Given the description of an element on the screen output the (x, y) to click on. 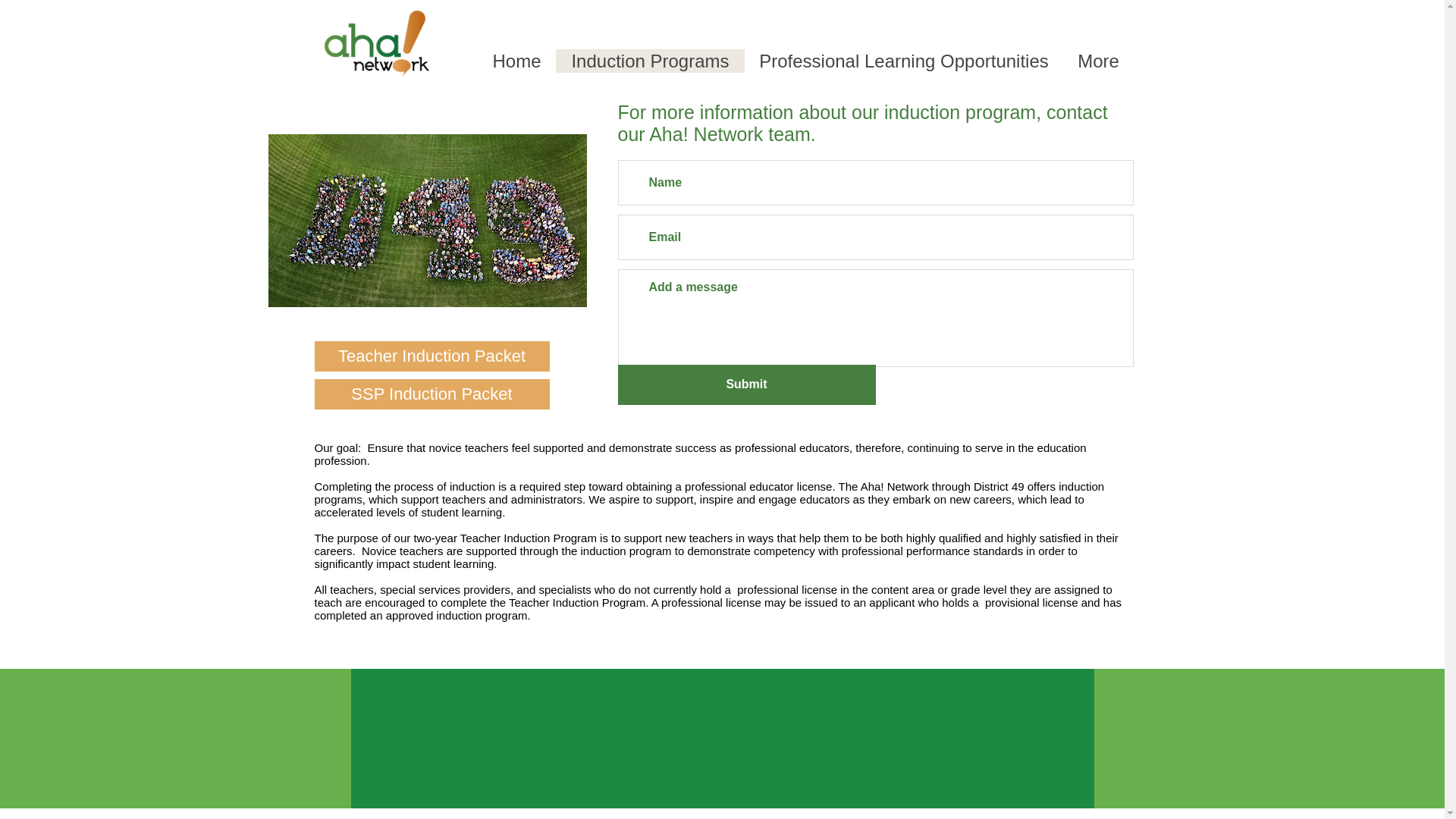
Induction Programs (649, 60)
SSP Induction Packet (431, 394)
Professional Learning Opportunities (903, 60)
Home (515, 60)
Submit (746, 384)
Teacher Induction Packet (431, 356)
